Given the description of an element on the screen output the (x, y) to click on. 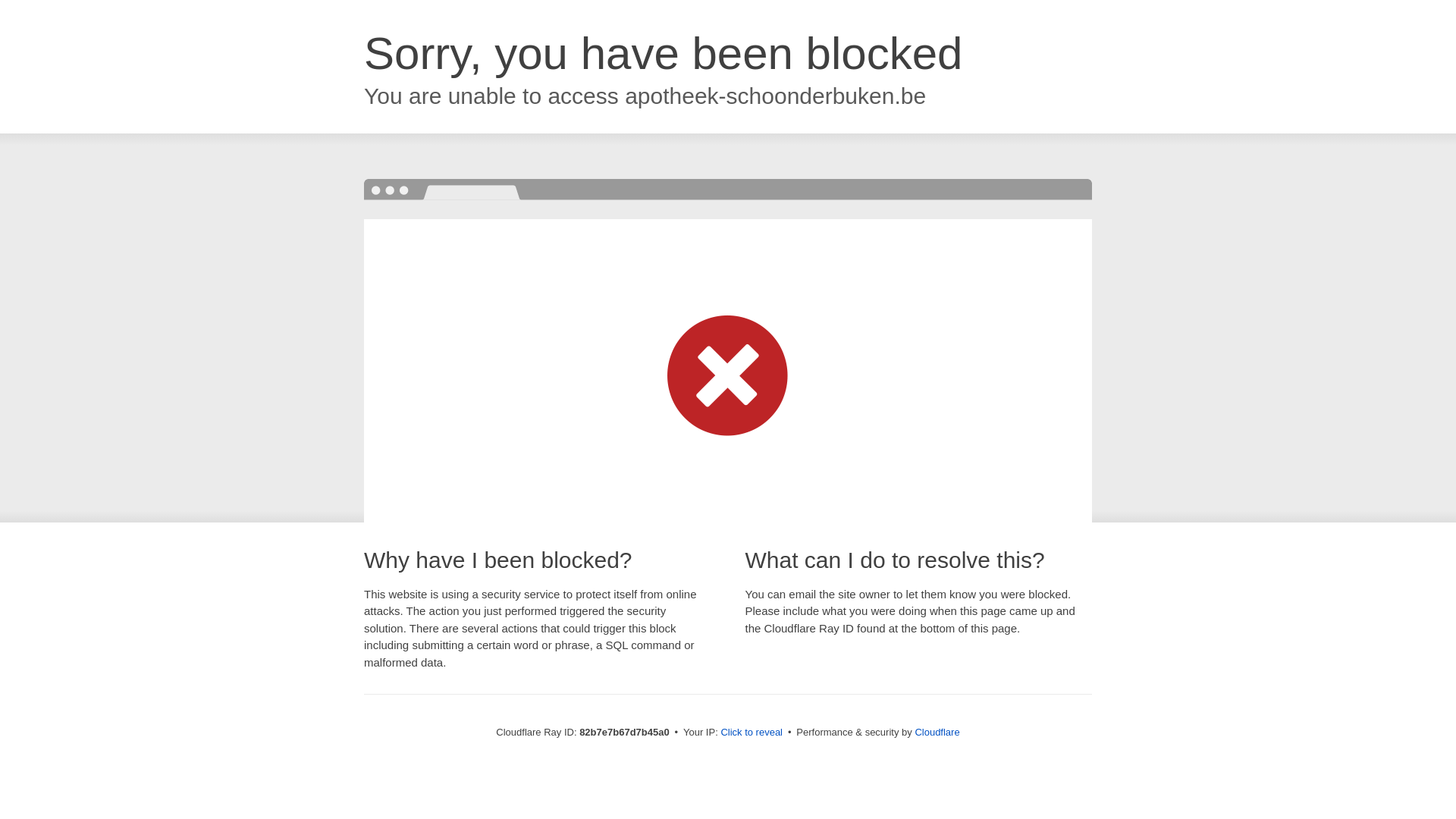
Click to reveal Element type: text (751, 732)
Cloudflare Element type: text (936, 731)
